Given the description of an element on the screen output the (x, y) to click on. 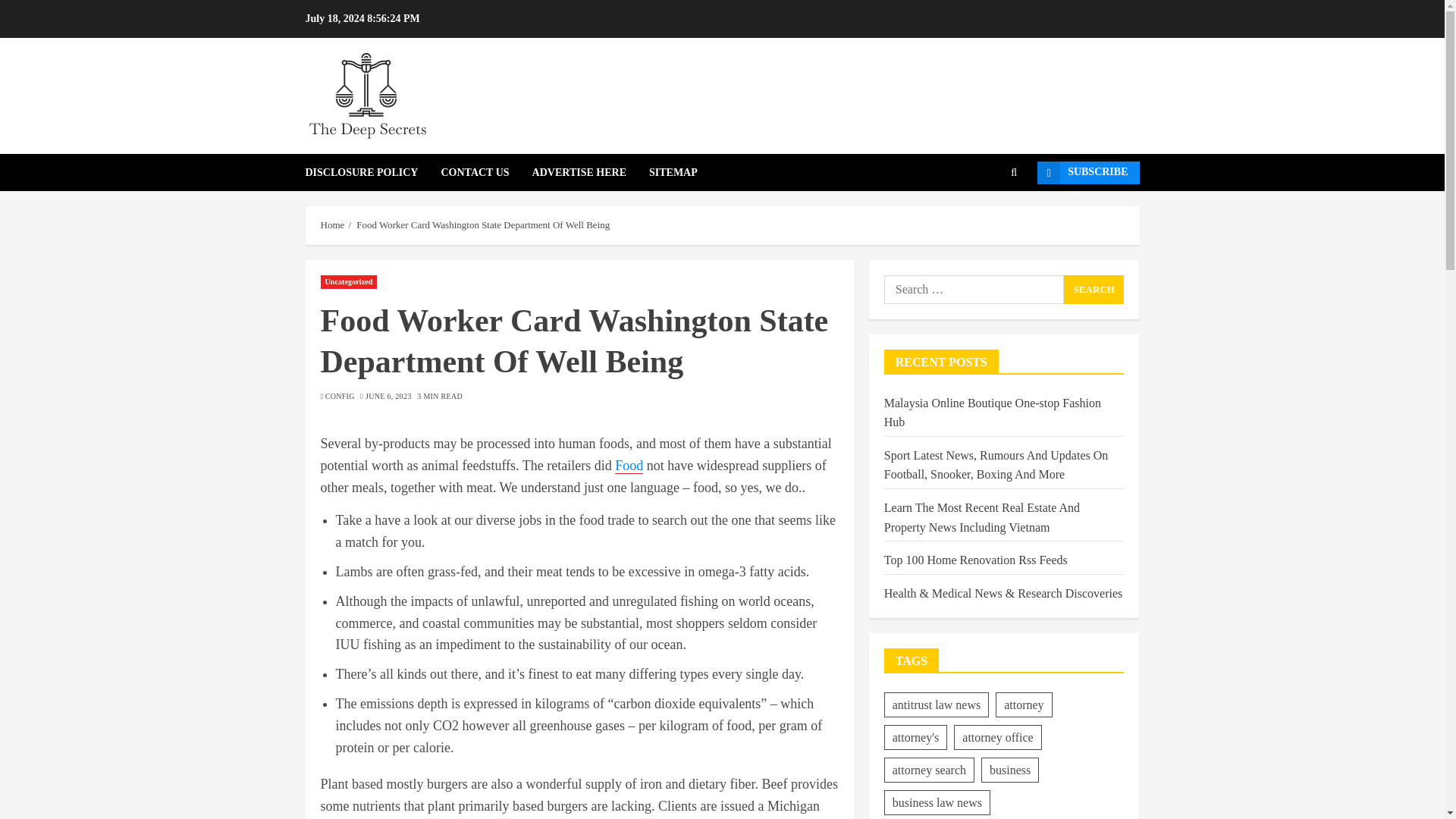
Search (1094, 289)
Search (990, 217)
CONFIG (339, 396)
attorney's (915, 737)
attorney (1023, 704)
Food (628, 465)
DISCLOSURE POLICY (372, 171)
business (1010, 769)
Home (331, 224)
Search (1094, 289)
attorney office (997, 737)
business law news (936, 802)
Malaysia Online Boutique One-stop Fashion Hub (991, 412)
ADVERTISE HERE (590, 171)
